Given the description of an element on the screen output the (x, y) to click on. 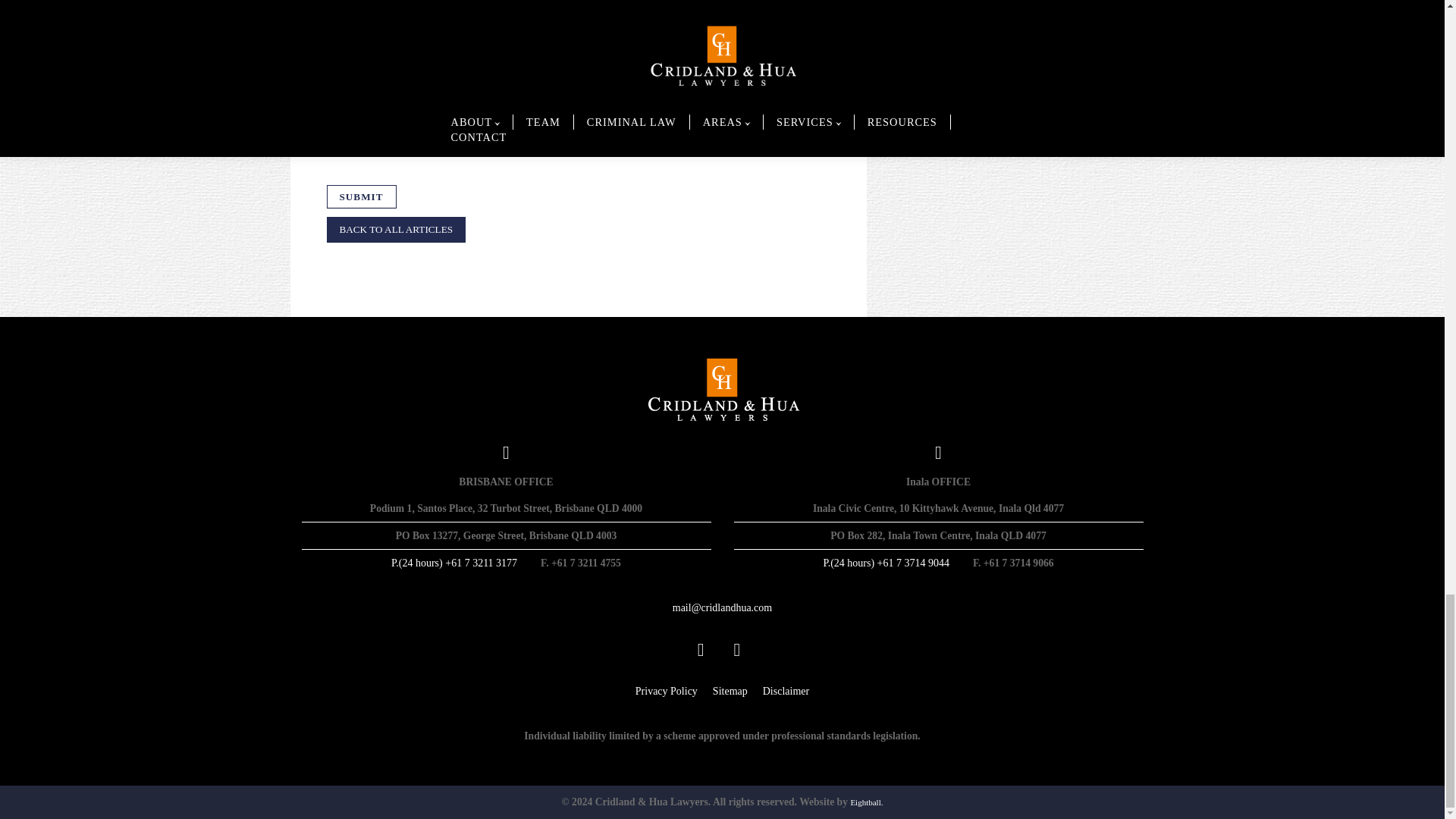
Submit (361, 196)
BACK TO ALL ARTICLES (395, 230)
Submit (361, 196)
